Given the description of an element on the screen output the (x, y) to click on. 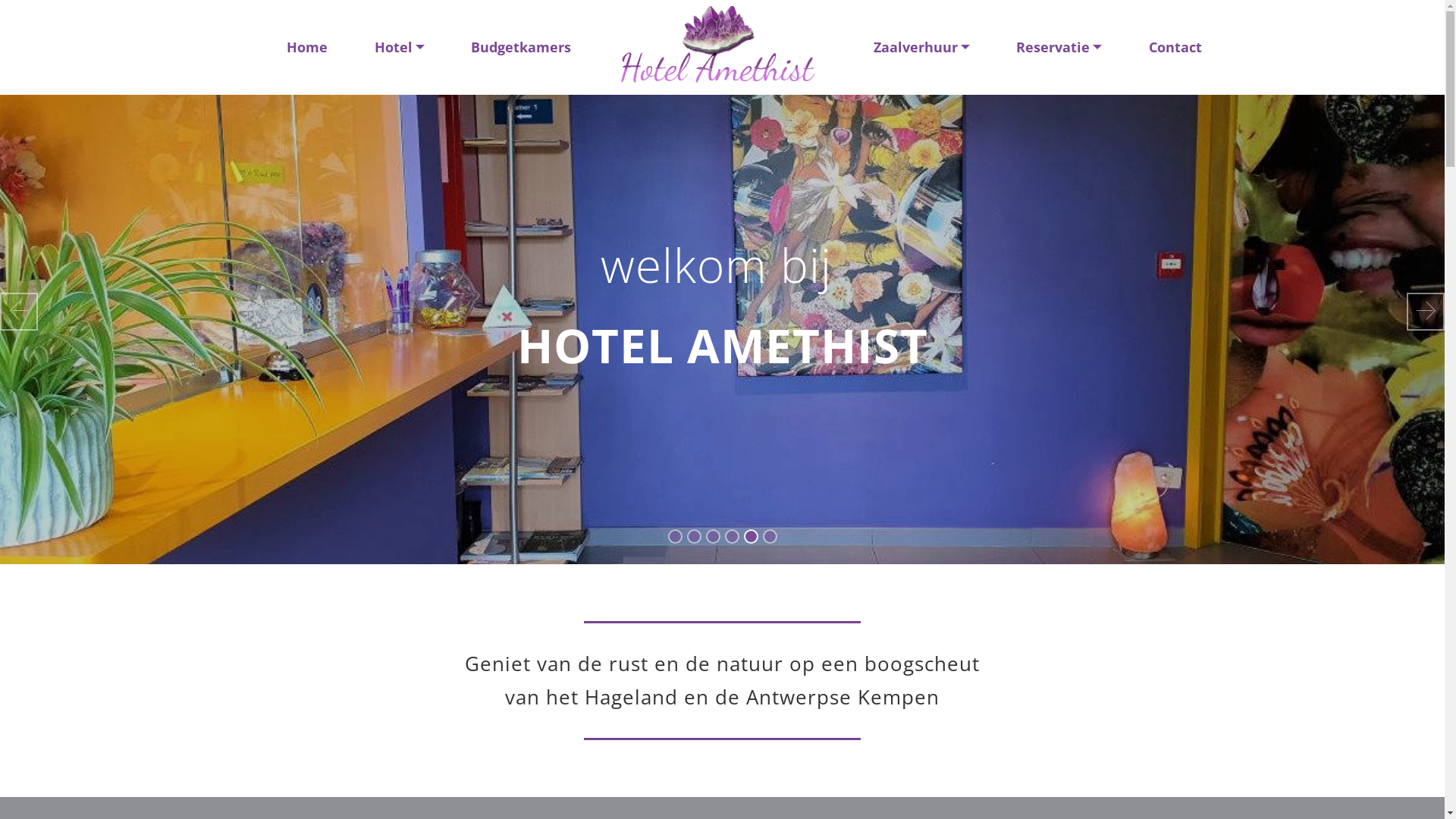
Next Element type: text (1425, 311)
Contact Element type: text (1174, 47)
Previous Element type: text (18, 311)
Hotel Amethist receptie Element type: hover (722, 310)
Home Element type: text (307, 47)
Hotel Element type: text (399, 47)
Budgetkamers Element type: text (520, 47)
Zaalverhuur Element type: text (921, 47)
Logo hotel Amethist Element type: hover (717, 47)
Reservatie Element type: text (1059, 47)
